Given the description of an element on the screen output the (x, y) to click on. 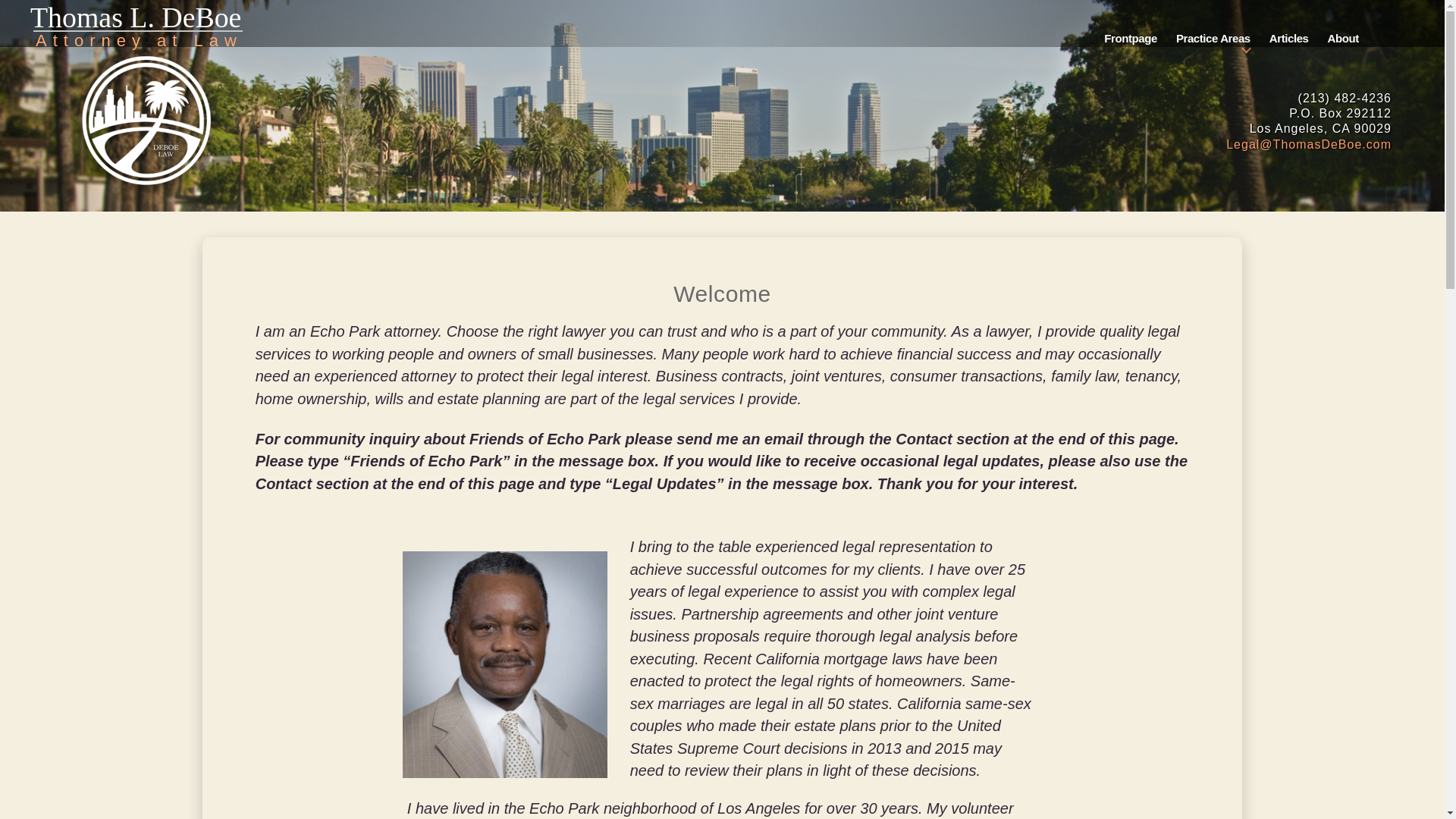
Thomas L. DeBoe (135, 22)
Frontpage (1130, 23)
Practice Areas (1213, 23)
